Given the description of an element on the screen output the (x, y) to click on. 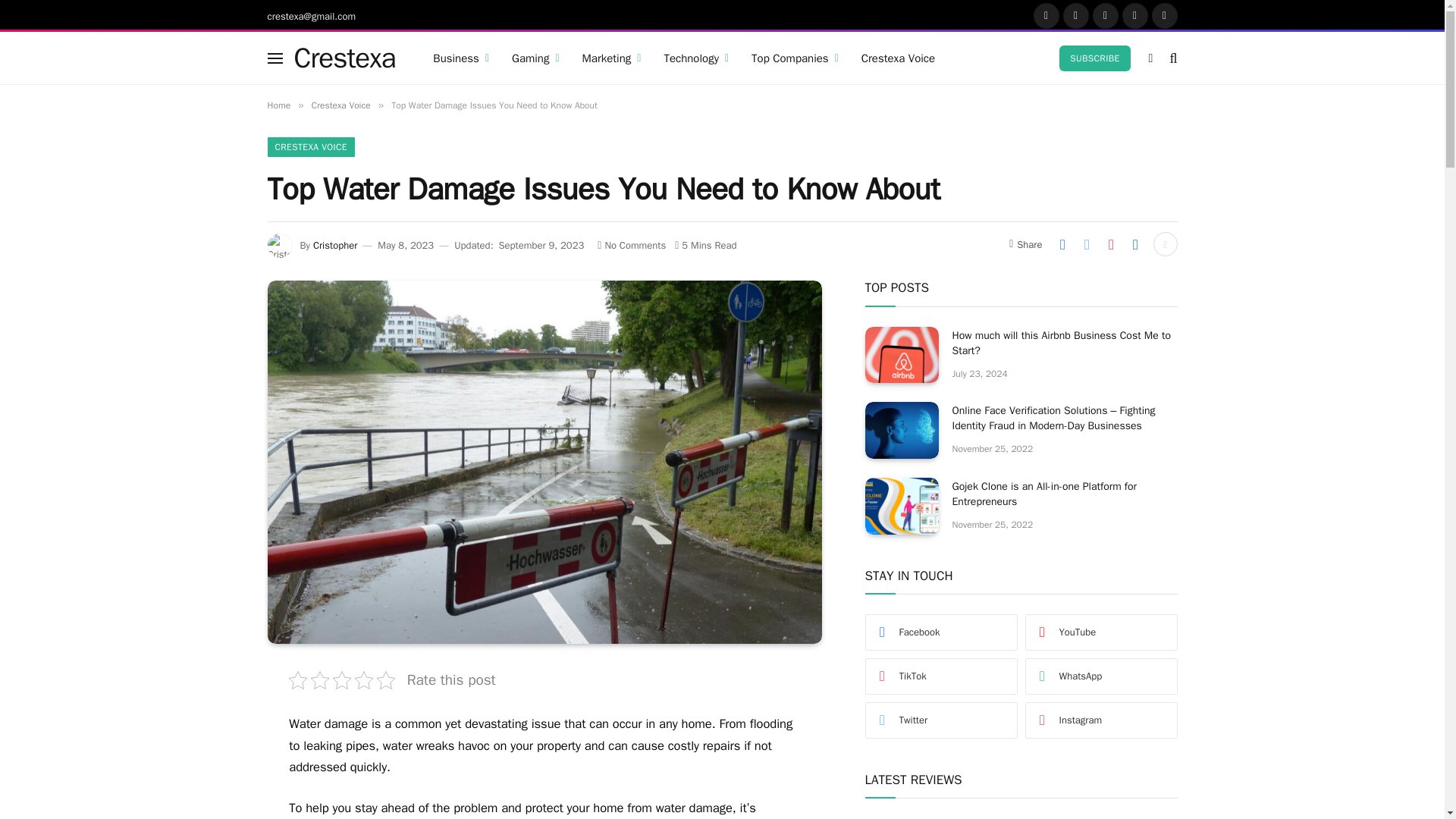
Gaming (535, 57)
Share on Pinterest (1110, 243)
Posts by Cristopher (334, 245)
Technology (695, 57)
Share on LinkedIn (1135, 243)
Share on Facebook (1062, 243)
Business (461, 57)
Crestexa Voice (898, 57)
Vimeo (1163, 15)
Top Companies (794, 57)
